Given the description of an element on the screen output the (x, y) to click on. 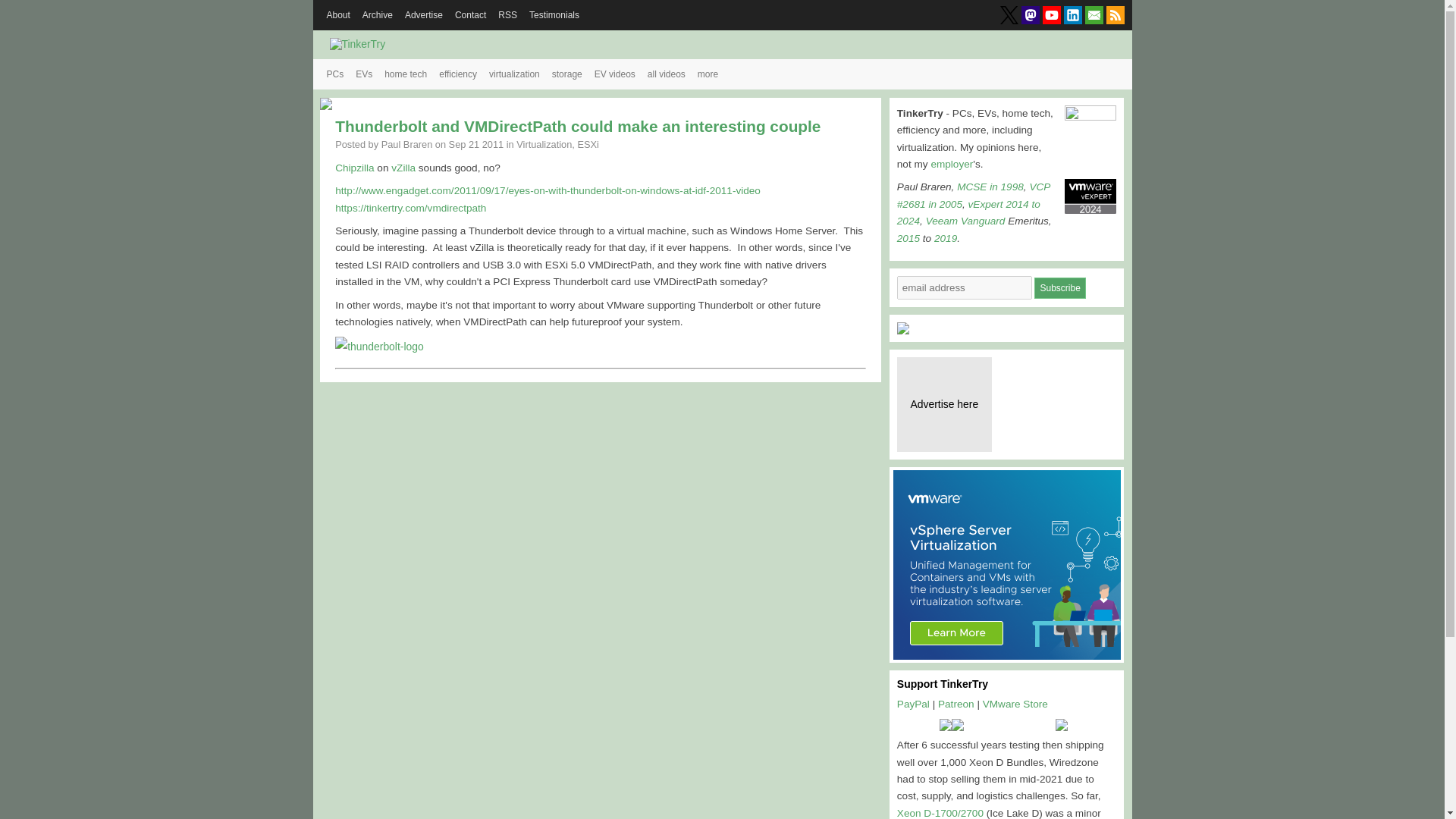
Contact (470, 15)
Advertise (423, 15)
Archive (377, 15)
virtualization (514, 73)
home tech (405, 73)
ESXi (587, 143)
Virtualization (544, 143)
vZilla (402, 167)
Chipzilla (354, 167)
Testimonials (554, 15)
